Given the description of an element on the screen output the (x, y) to click on. 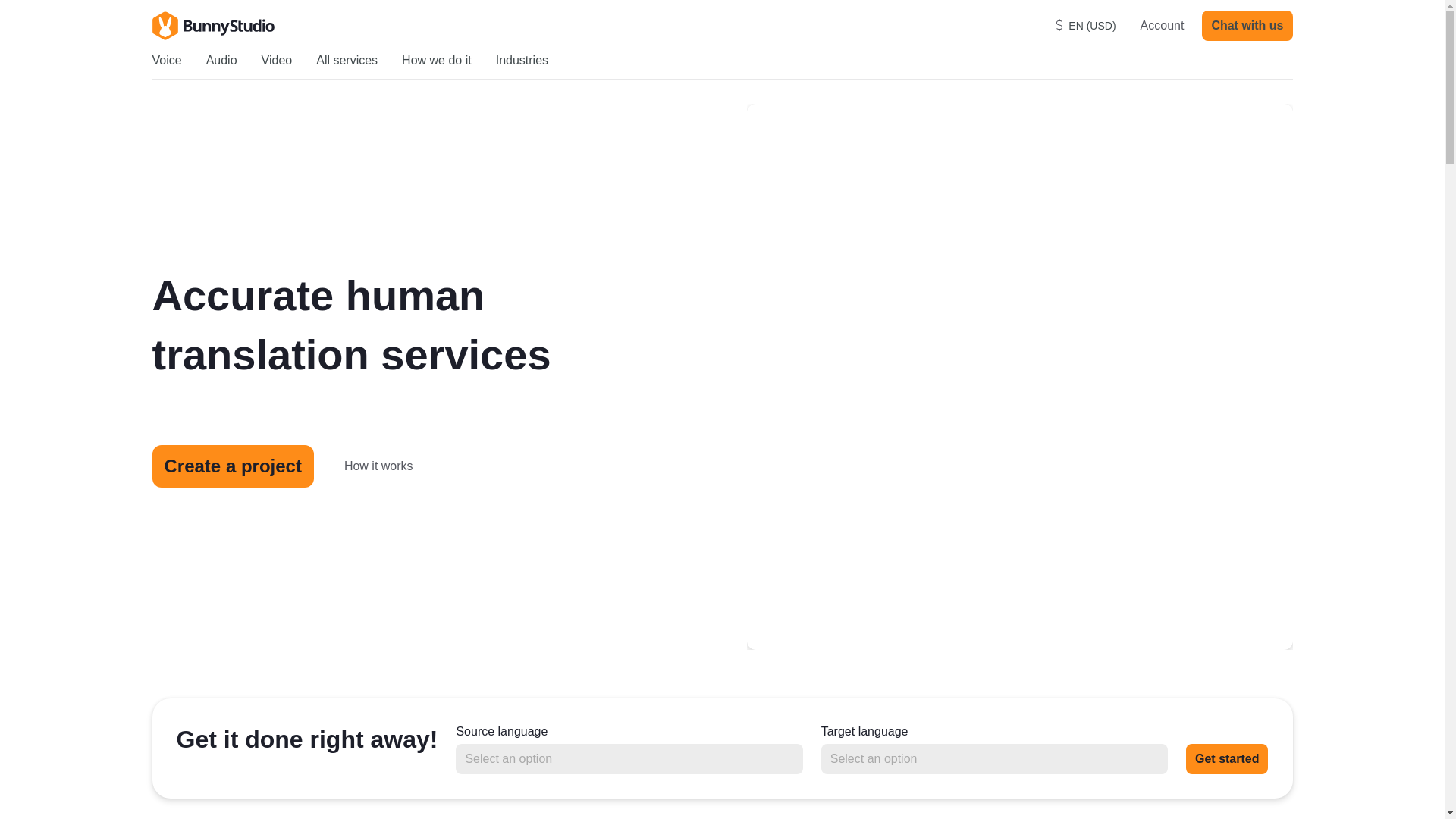
Video (277, 60)
All services (346, 60)
Account (1159, 25)
Audio (221, 60)
Voice (165, 60)
Chat with us (1247, 25)
